Given the description of an element on the screen output the (x, y) to click on. 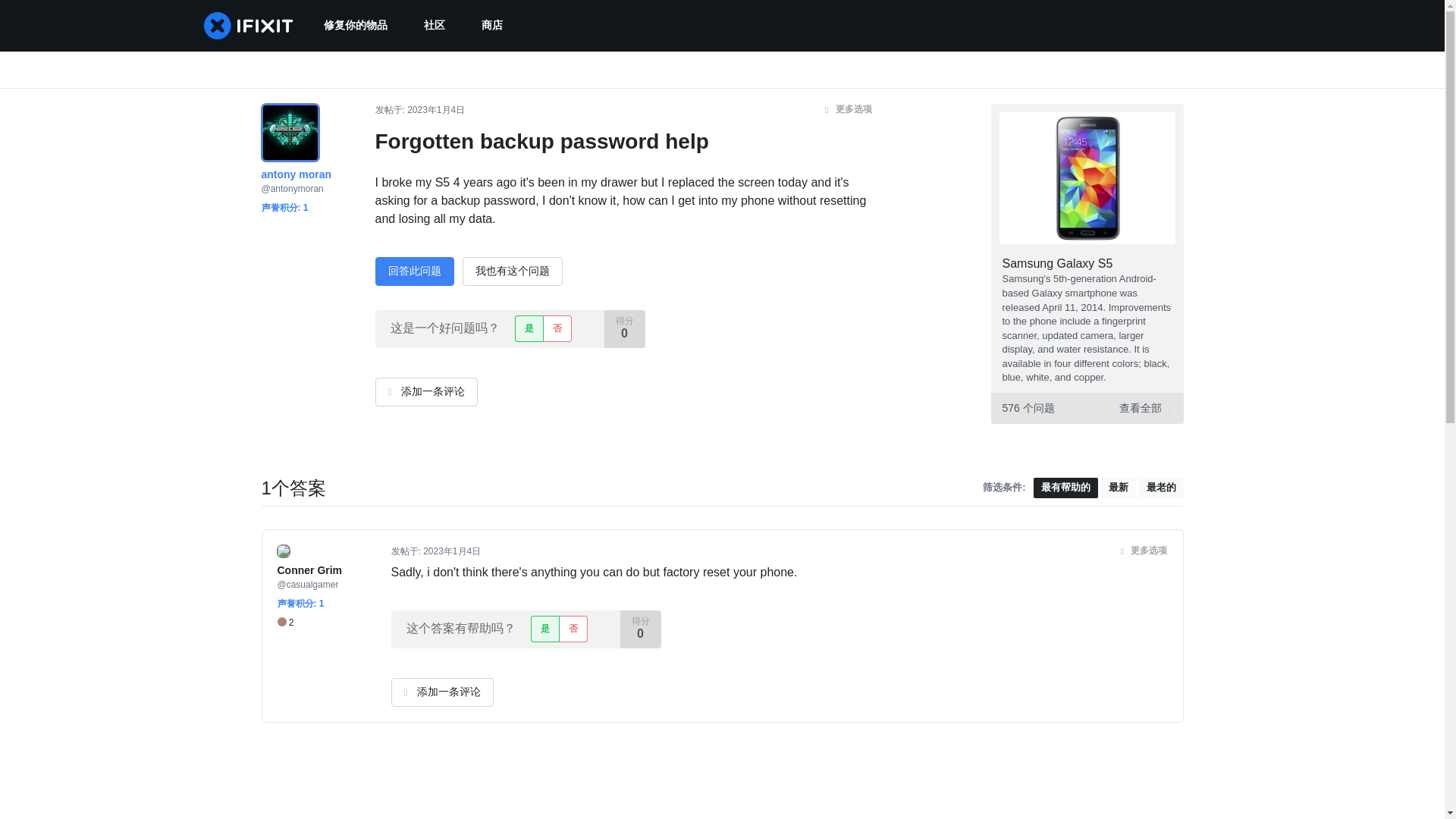
Samsung Galaxy S5 (1058, 263)
Wed, 04 Jan 2023 14:45:52 -0700 (451, 551)
Wed, 04 Jan 2023 12:02:23 -0700 (435, 109)
2 (286, 622)
